Given the description of an element on the screen output the (x, y) to click on. 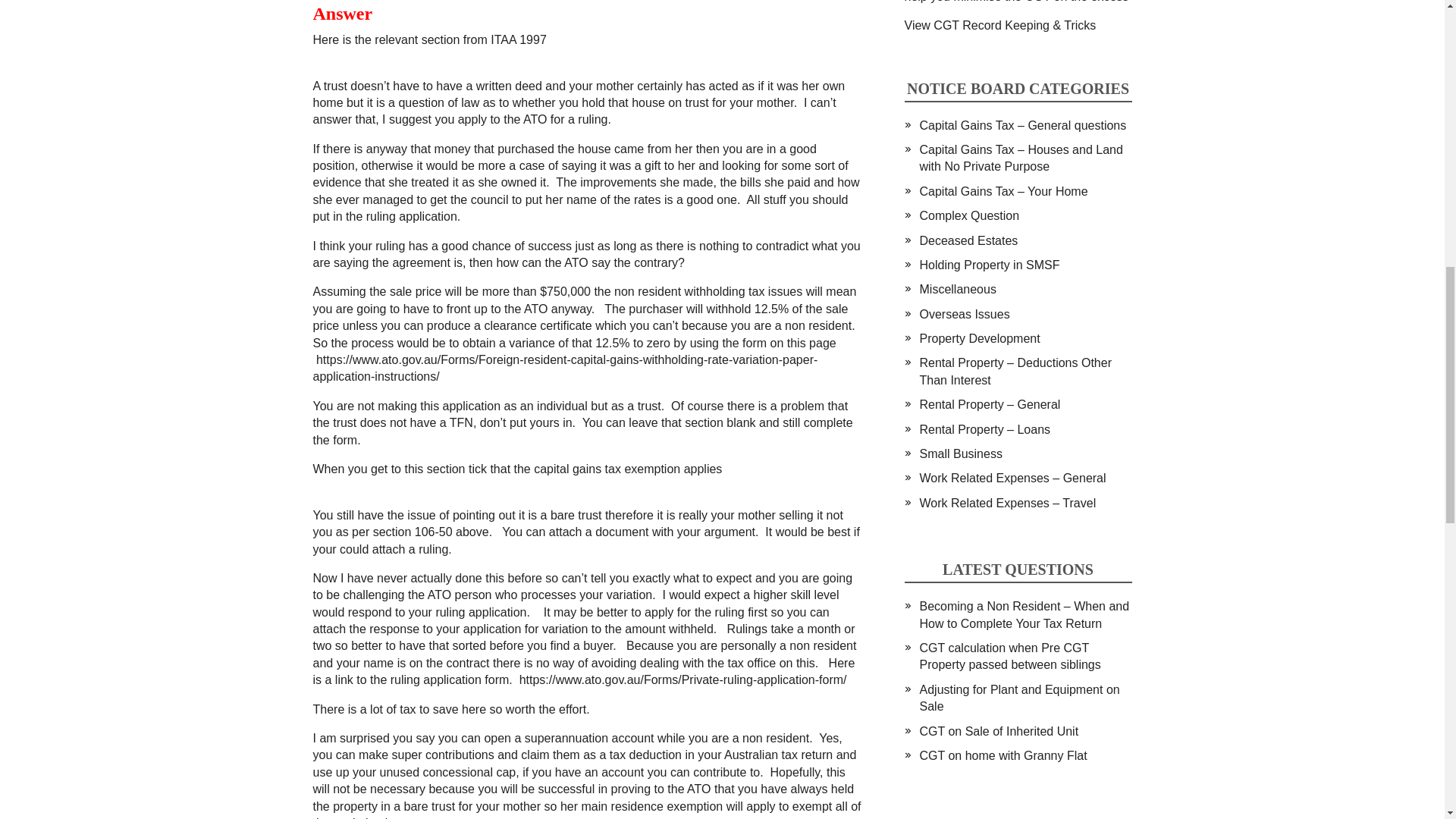
CGT on home with Granny Flat (1002, 755)
Property Development (978, 338)
Complex Question (968, 215)
Overseas Issues (963, 314)
Adjusting for Plant and Equipment on Sale (1018, 697)
Holding Property in SMSF (988, 264)
Deceased Estates (967, 240)
CGT on Sale of Inherited Unit (998, 730)
Small Business (959, 453)
Miscellaneous (956, 288)
